Given the description of an element on the screen output the (x, y) to click on. 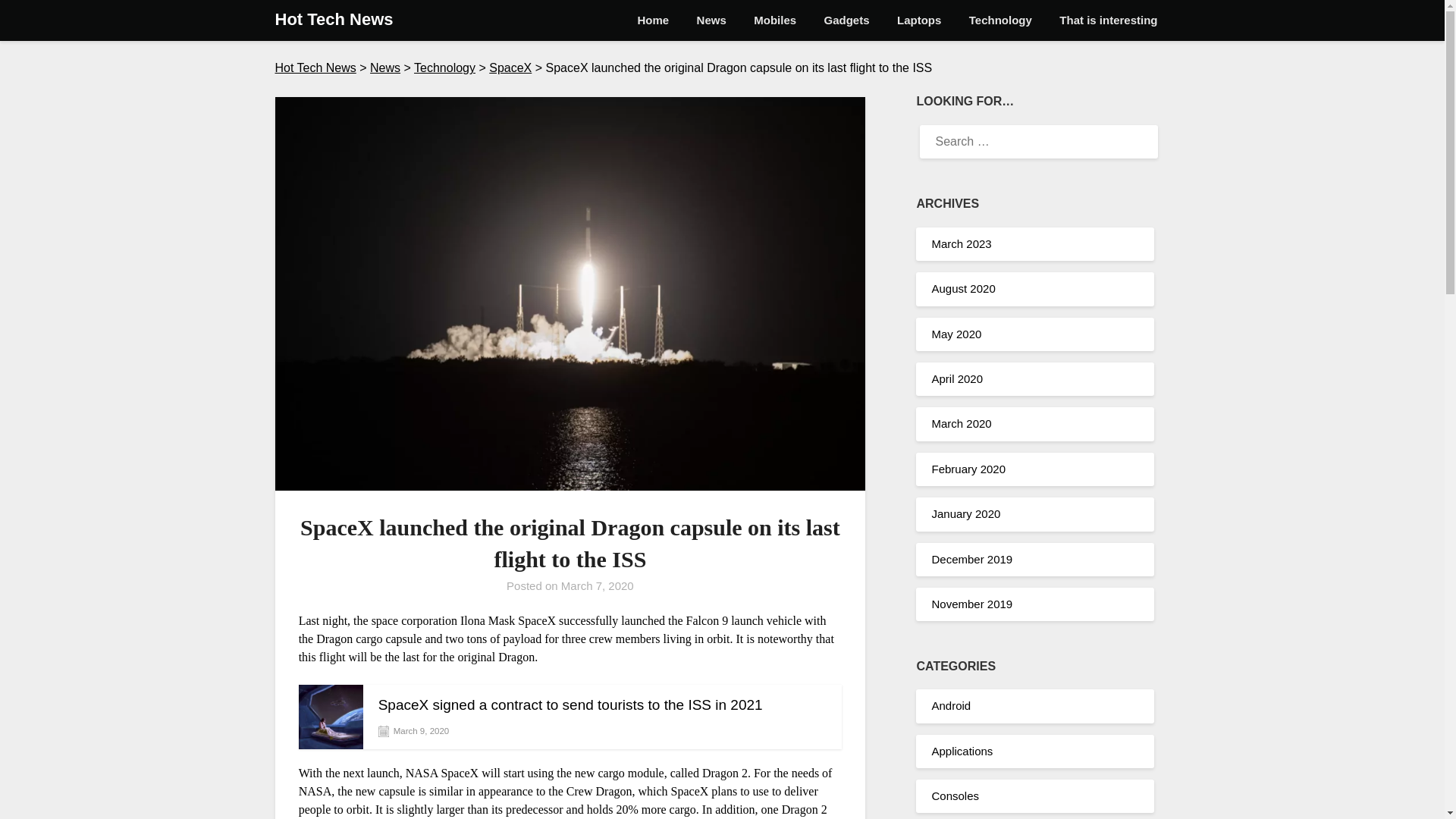
Home (653, 20)
Hot Tech News (334, 19)
Technology (999, 20)
Gadgets (847, 20)
Go to the News Category archives. (384, 67)
March 2023 (961, 243)
SpaceX (510, 67)
News (384, 67)
Search (38, 22)
Mobiles (774, 20)
SpaceX signed a contract to send tourists to the ISS in 2021 (606, 705)
Technology (444, 67)
Hot Tech News (315, 67)
August 2020 (962, 287)
Laptops (919, 20)
